Given the description of an element on the screen output the (x, y) to click on. 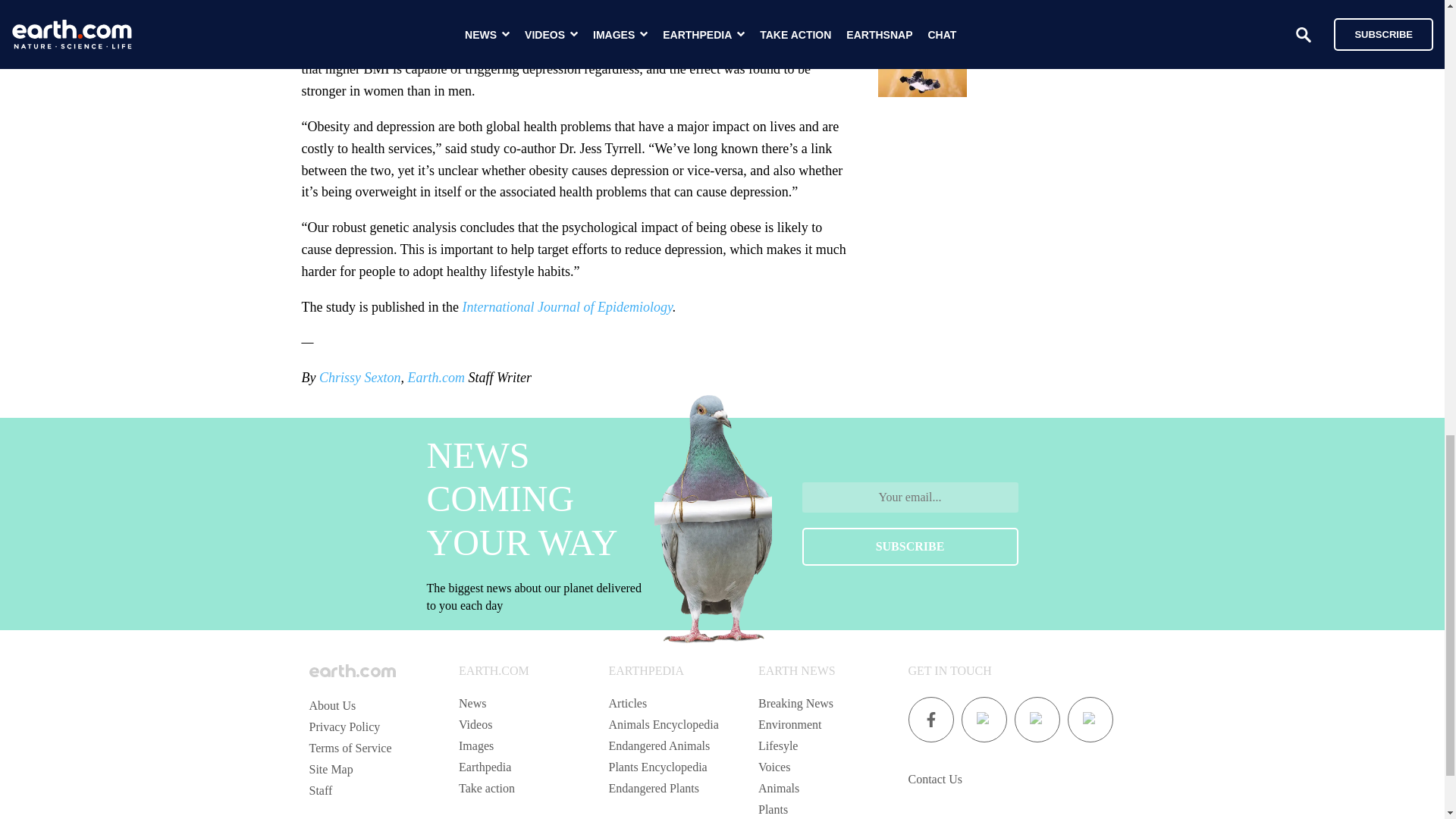
Sky cranes are shaping the future of Mars missions (1047, 55)
Earth.com (435, 377)
International Journal of Epidemiology (566, 306)
Chrissy Sexton (359, 377)
